Given the description of an element on the screen output the (x, y) to click on. 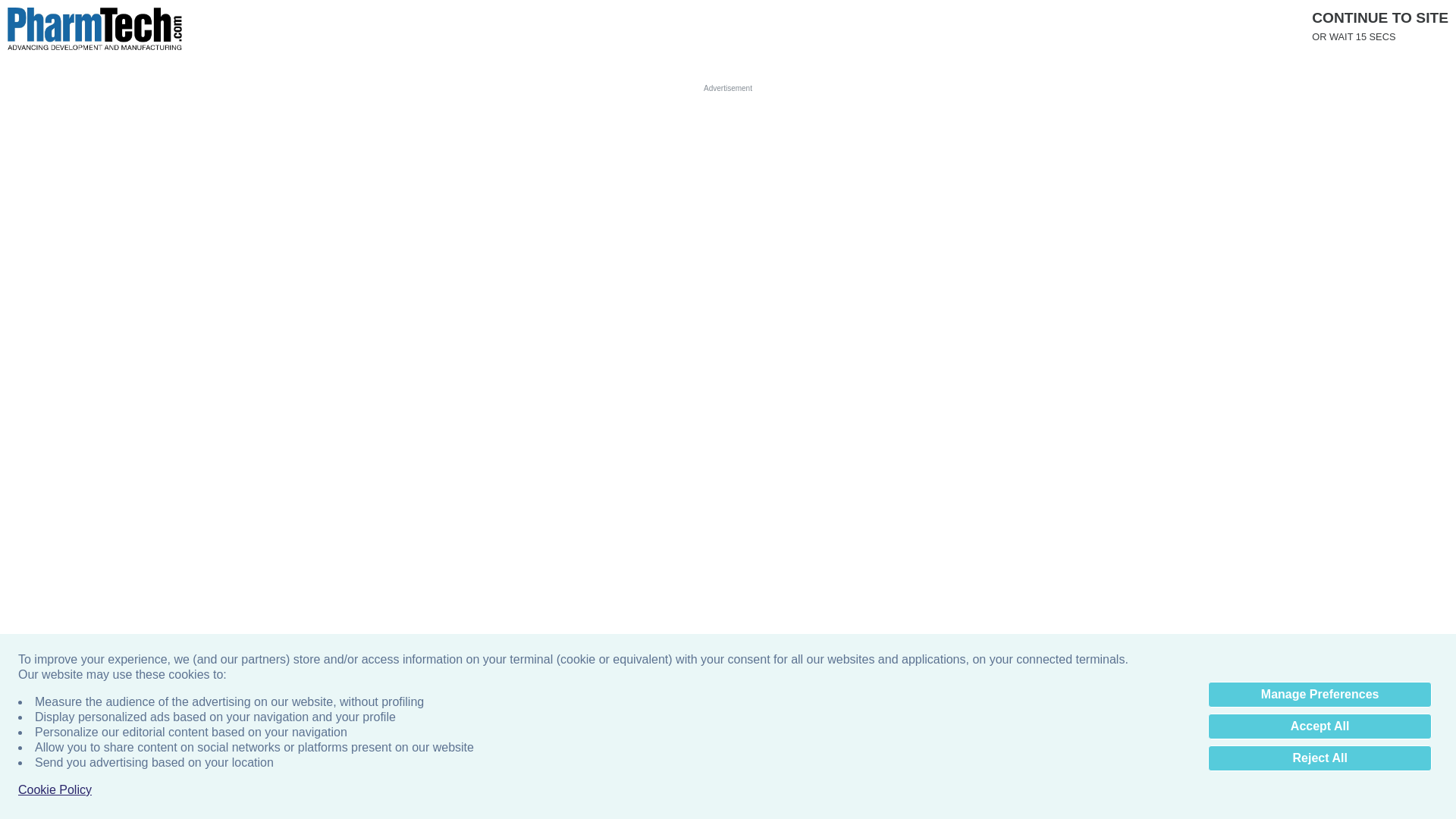
Manage Preferences (1319, 694)
Reject All (1319, 758)
Accept All (1319, 726)
Cookie Policy (54, 789)
